Given the description of an element on the screen output the (x, y) to click on. 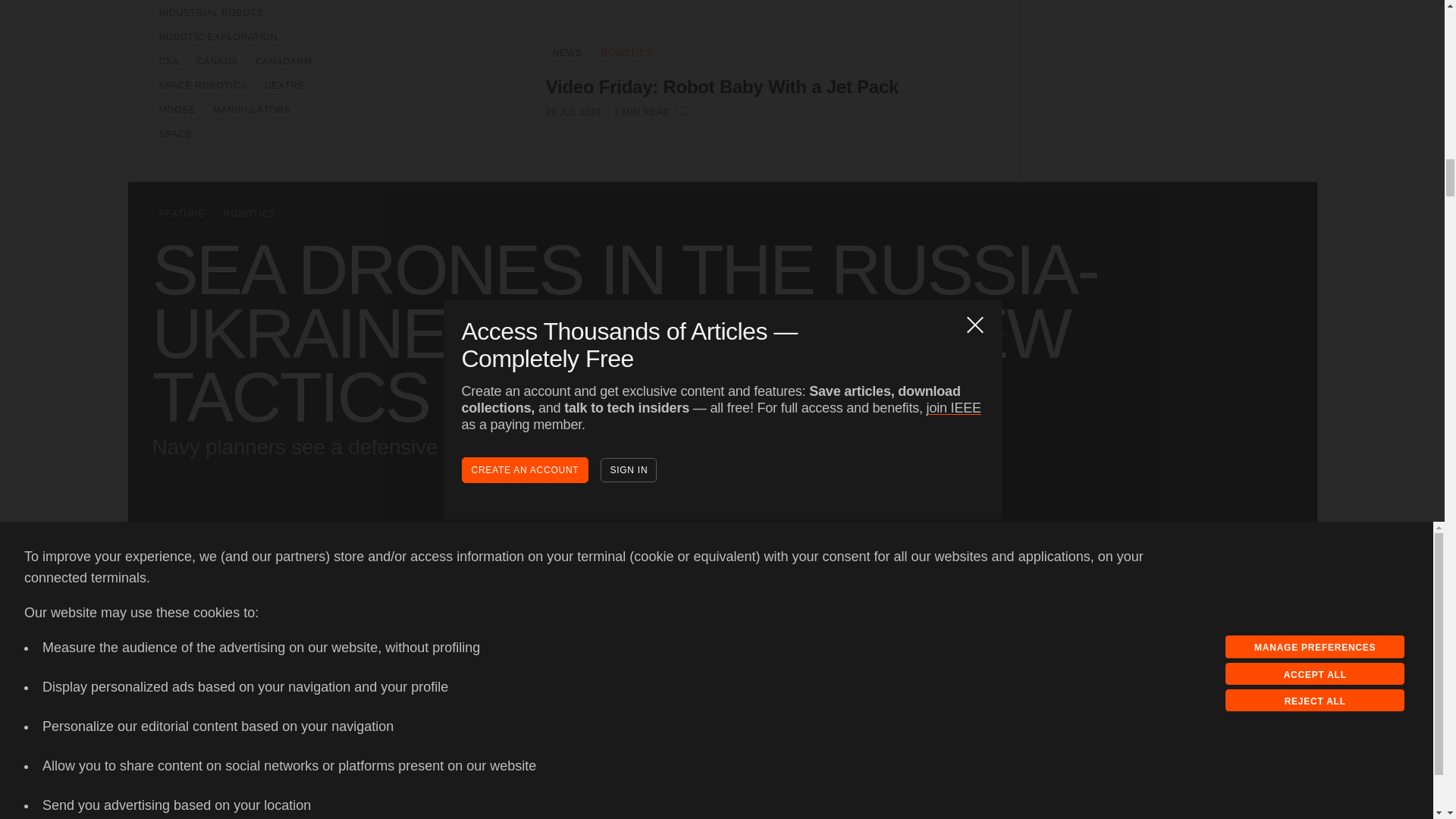
Copy this link to clipboard (1199, 671)
